Given the description of an element on the screen output the (x, y) to click on. 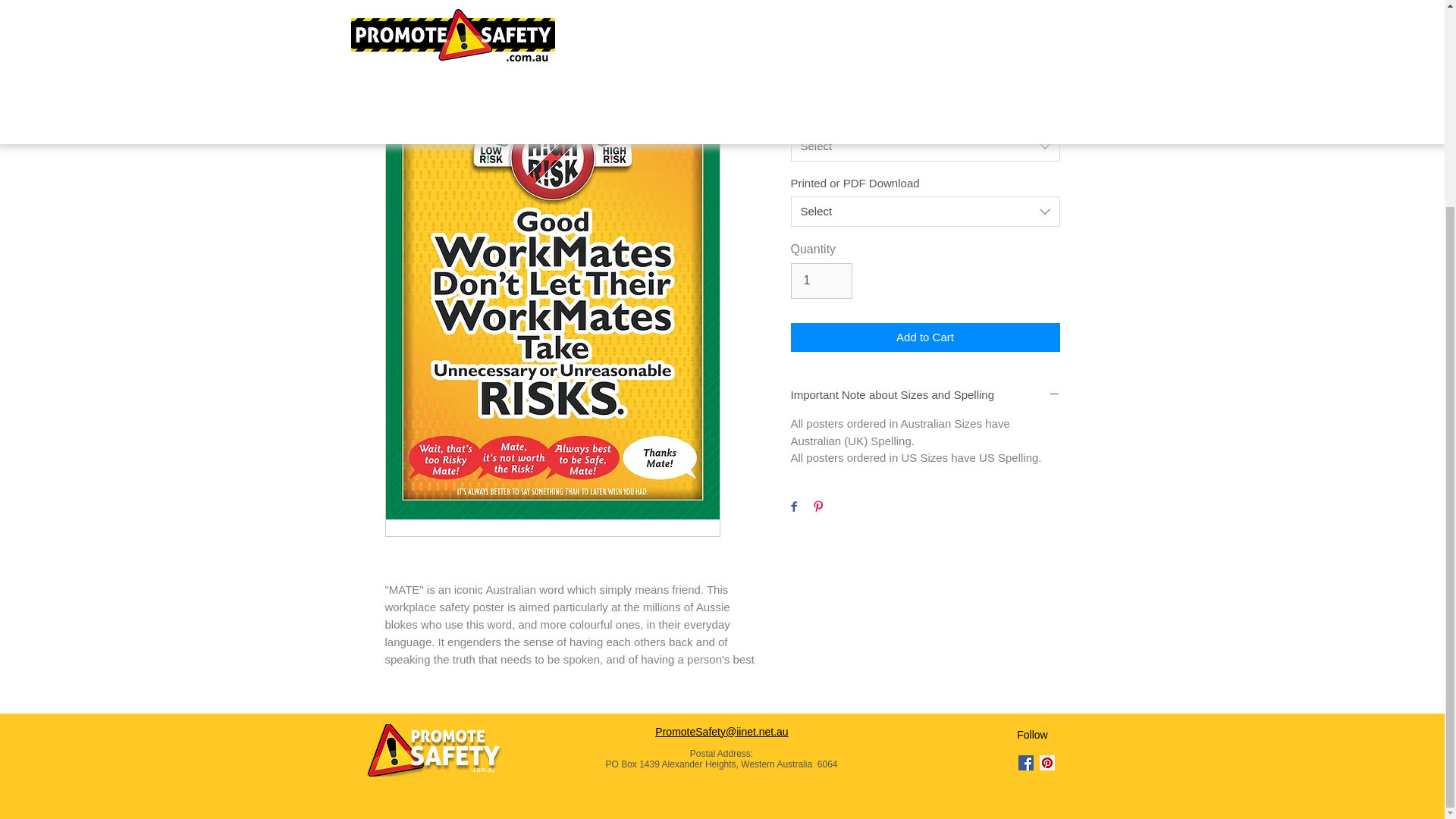
Select (924, 146)
1 (820, 280)
Important Note about Sizes and Spelling (924, 395)
Select (924, 211)
Add to Cart (924, 337)
